Given the description of an element on the screen output the (x, y) to click on. 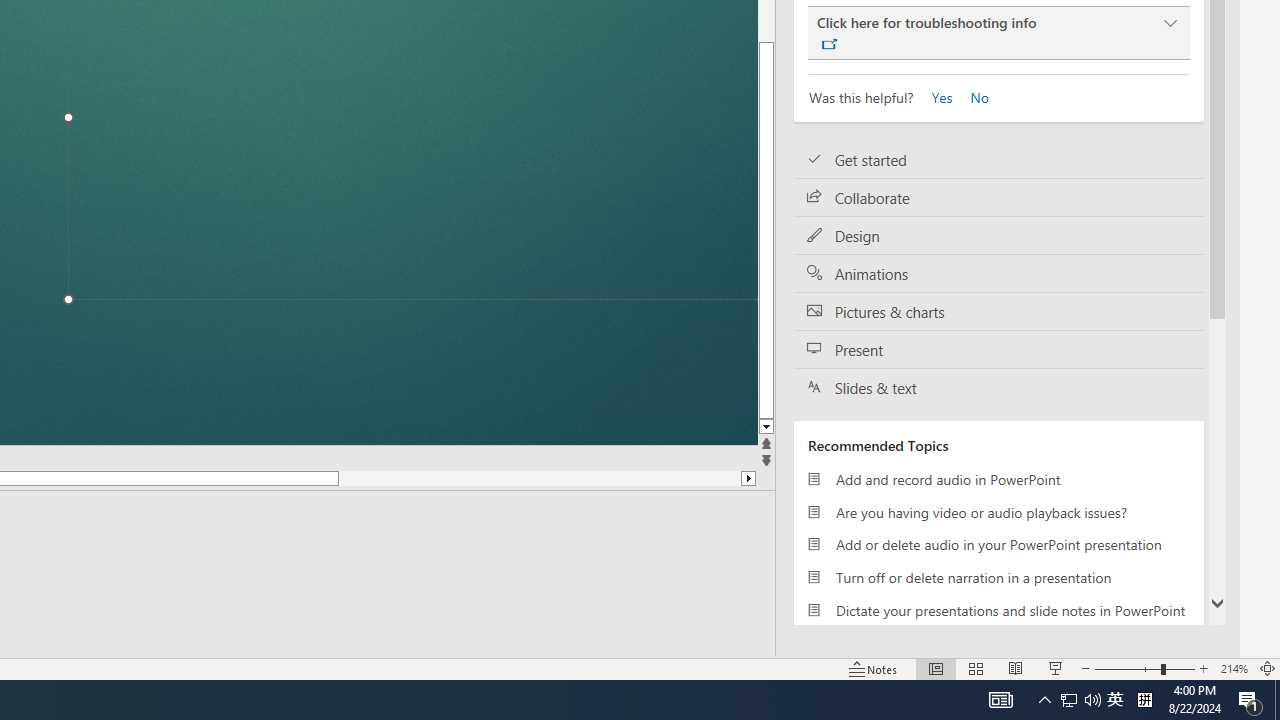
Zoom (1144, 668)
Turn off or delete narration in a presentation (998, 577)
Pictures & charts (998, 312)
Zoom In (1204, 668)
Normal (936, 668)
Reading View (1015, 668)
Slides & text (998, 387)
Are you having video or audio playback issues? (998, 512)
Notes  (874, 668)
Design (998, 235)
Page down (540, 478)
Dictate your presentations and slide notes in PowerPoint (998, 610)
